Given the description of an element on the screen output the (x, y) to click on. 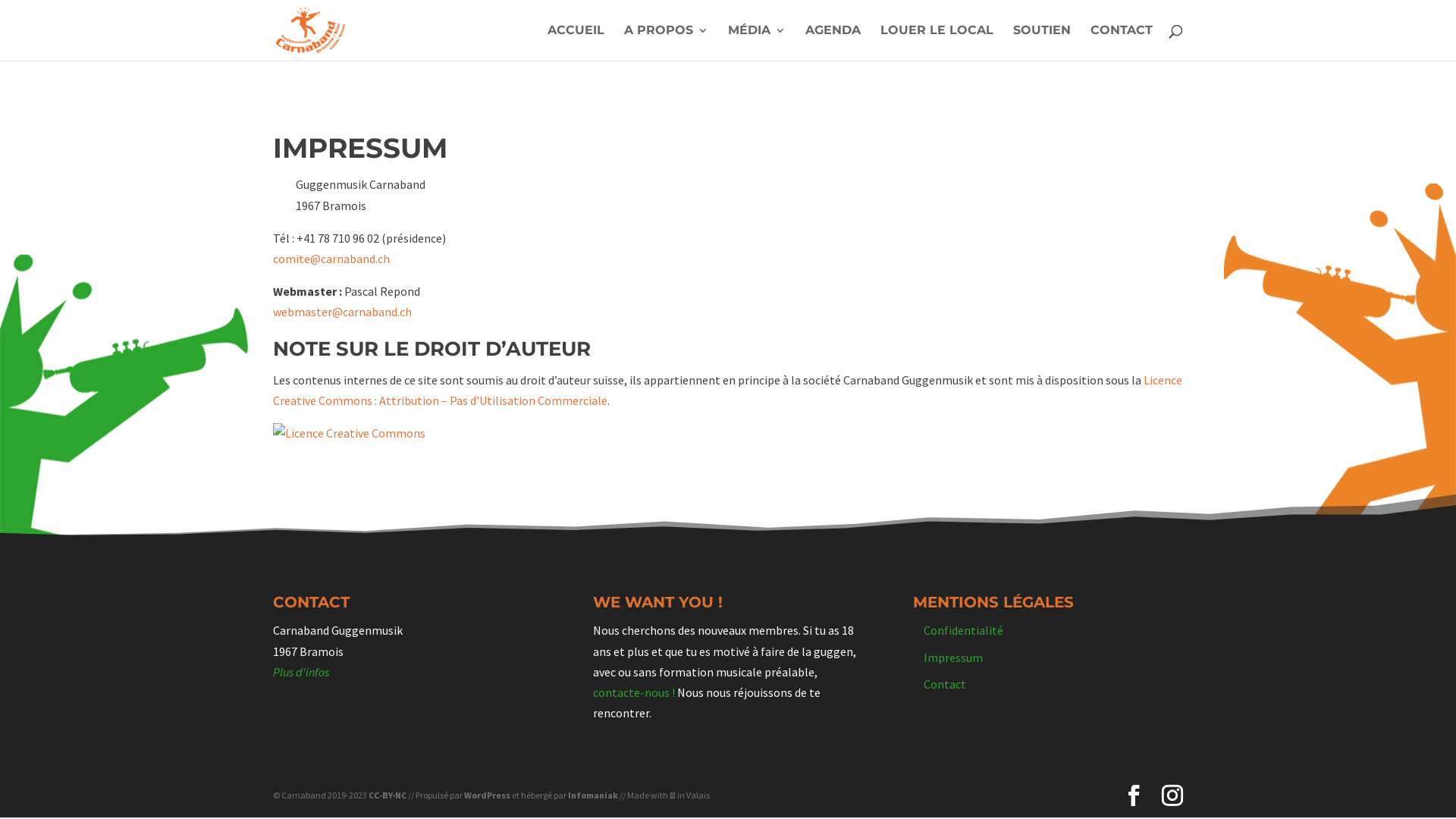
A PROPOS Element type: text (666, 42)
Impressum Element type: text (952, 657)
CC-BY-NC Element type: text (387, 794)
webmaster@carnaband.ch Element type: text (342, 311)
CONTACT Element type: text (1121, 42)
SOUTIEN Element type: text (1041, 42)
Plus d'infos Element type: text (301, 671)
LOUER LE LOCAL Element type: text (936, 42)
AGENDA Element type: text (832, 42)
ACCUEIL Element type: text (575, 42)
WordPress Element type: text (487, 794)
comite@carnaband.ch Element type: text (331, 258)
Infomaniak Element type: text (592, 794)
Contact Element type: text (944, 683)
contacte-nous ! Element type: text (633, 691)
